Given the description of an element on the screen output the (x, y) to click on. 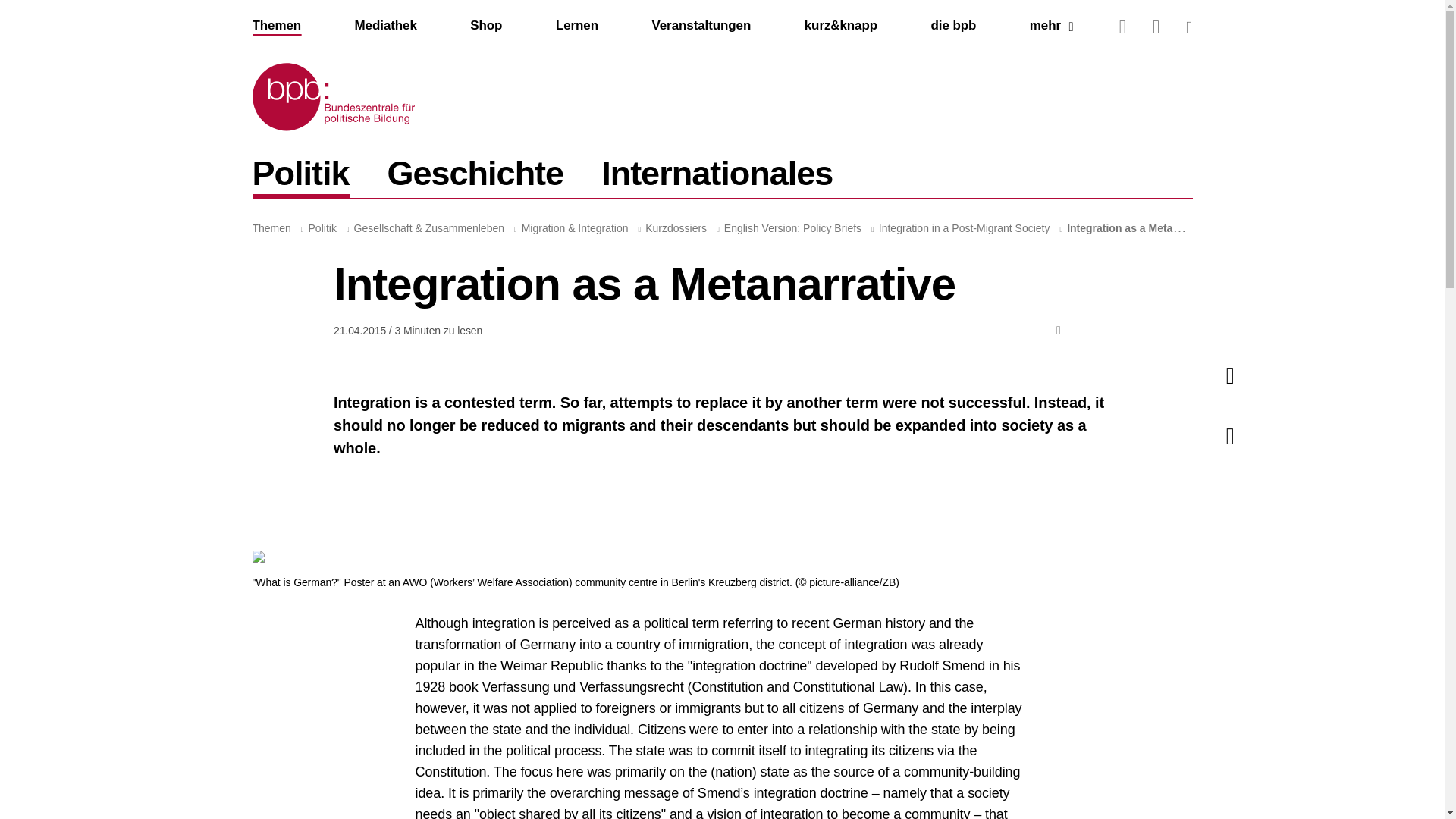
Veranstaltungen (700, 25)
Shop (486, 25)
Politik (721, 172)
Internationales (300, 177)
Themen (721, 172)
Themen (1051, 25)
die bpb (716, 177)
